Given the description of an element on the screen output the (x, y) to click on. 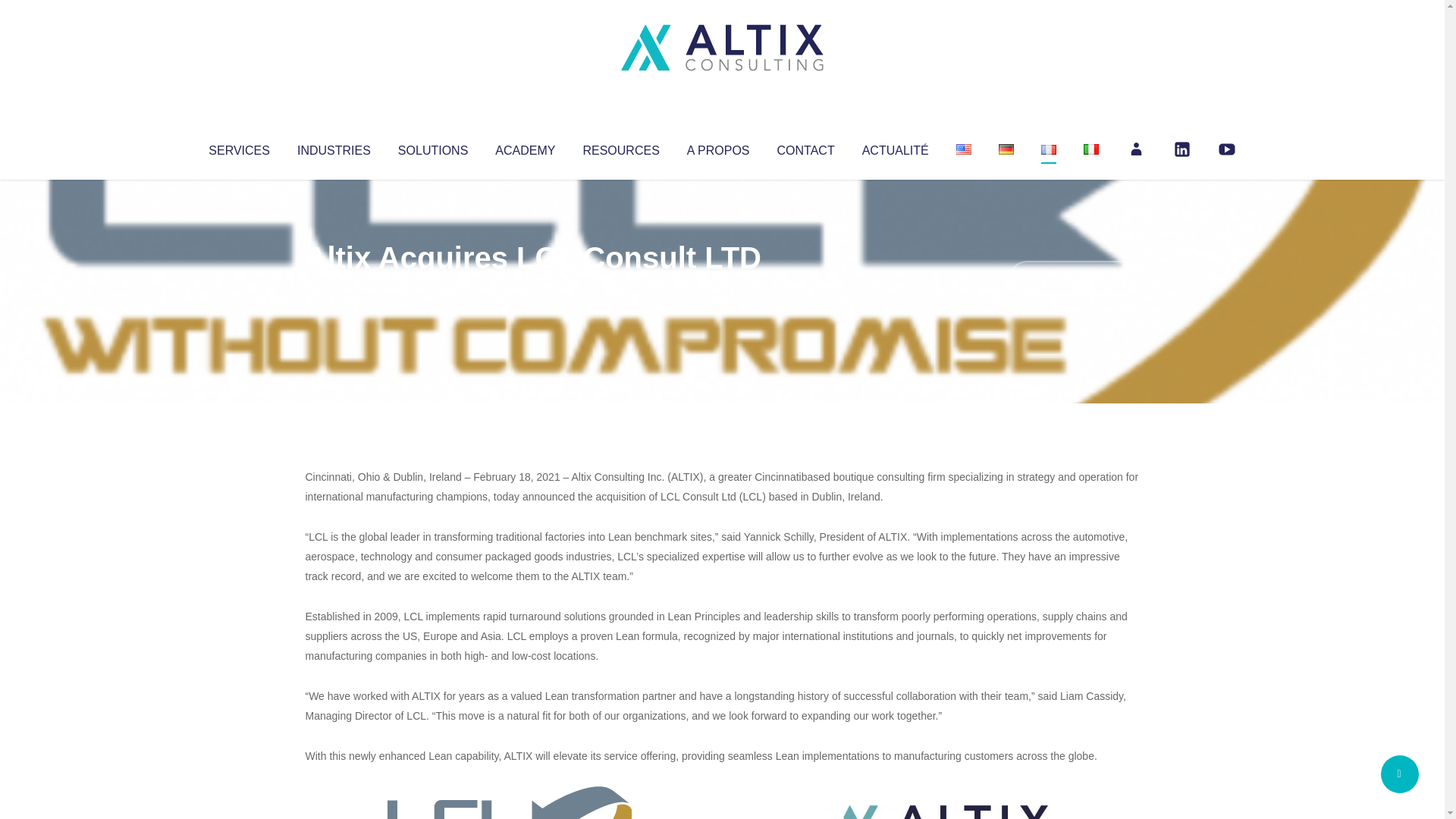
ACADEMY (524, 146)
A PROPOS (718, 146)
Altix (333, 287)
No Comments (1073, 278)
SERVICES (238, 146)
INDUSTRIES (334, 146)
Uncategorized (530, 287)
Articles par Altix (333, 287)
RESOURCES (620, 146)
SOLUTIONS (432, 146)
